Given the description of an element on the screen output the (x, y) to click on. 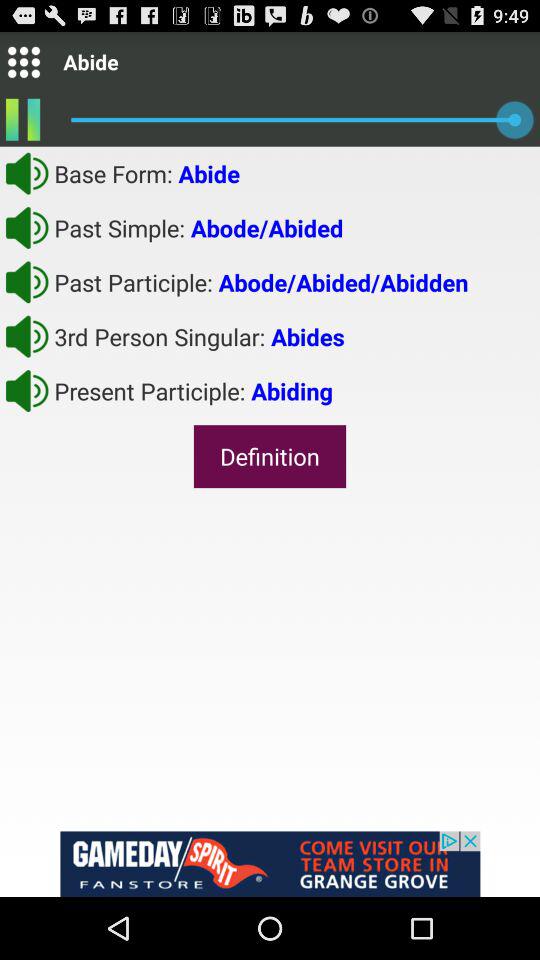
go to menu (23, 61)
